Given the description of an element on the screen output the (x, y) to click on. 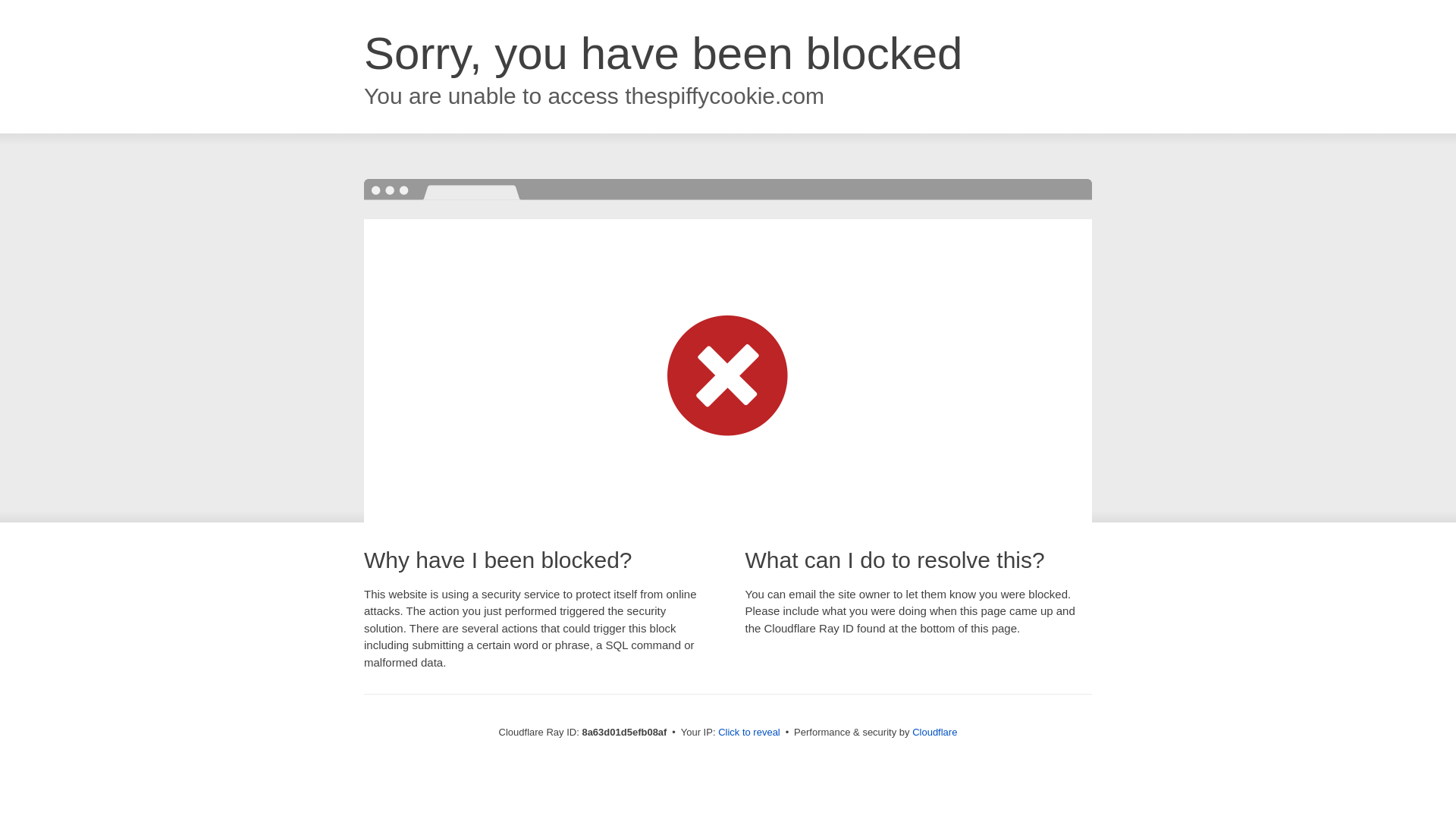
Cloudflare (934, 731)
Click to reveal (748, 732)
